Given the description of an element on the screen output the (x, y) to click on. 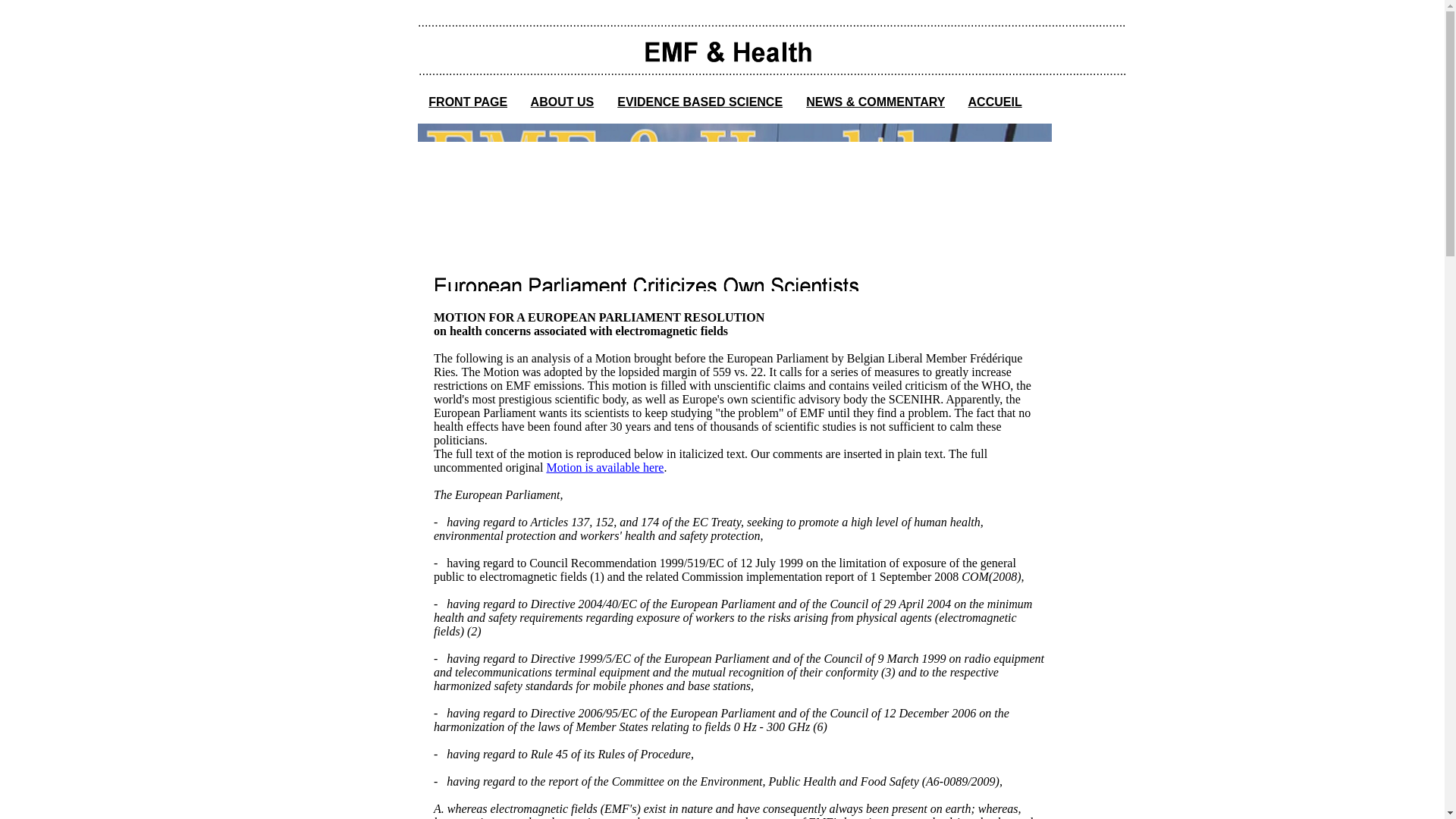
EVIDENCE BASED SCIENCE (700, 101)
FRONT PAGE (467, 101)
ABOUT US (562, 101)
Motion is available here (604, 467)
ACCUEIL (995, 101)
